Given the description of an element on the screen output the (x, y) to click on. 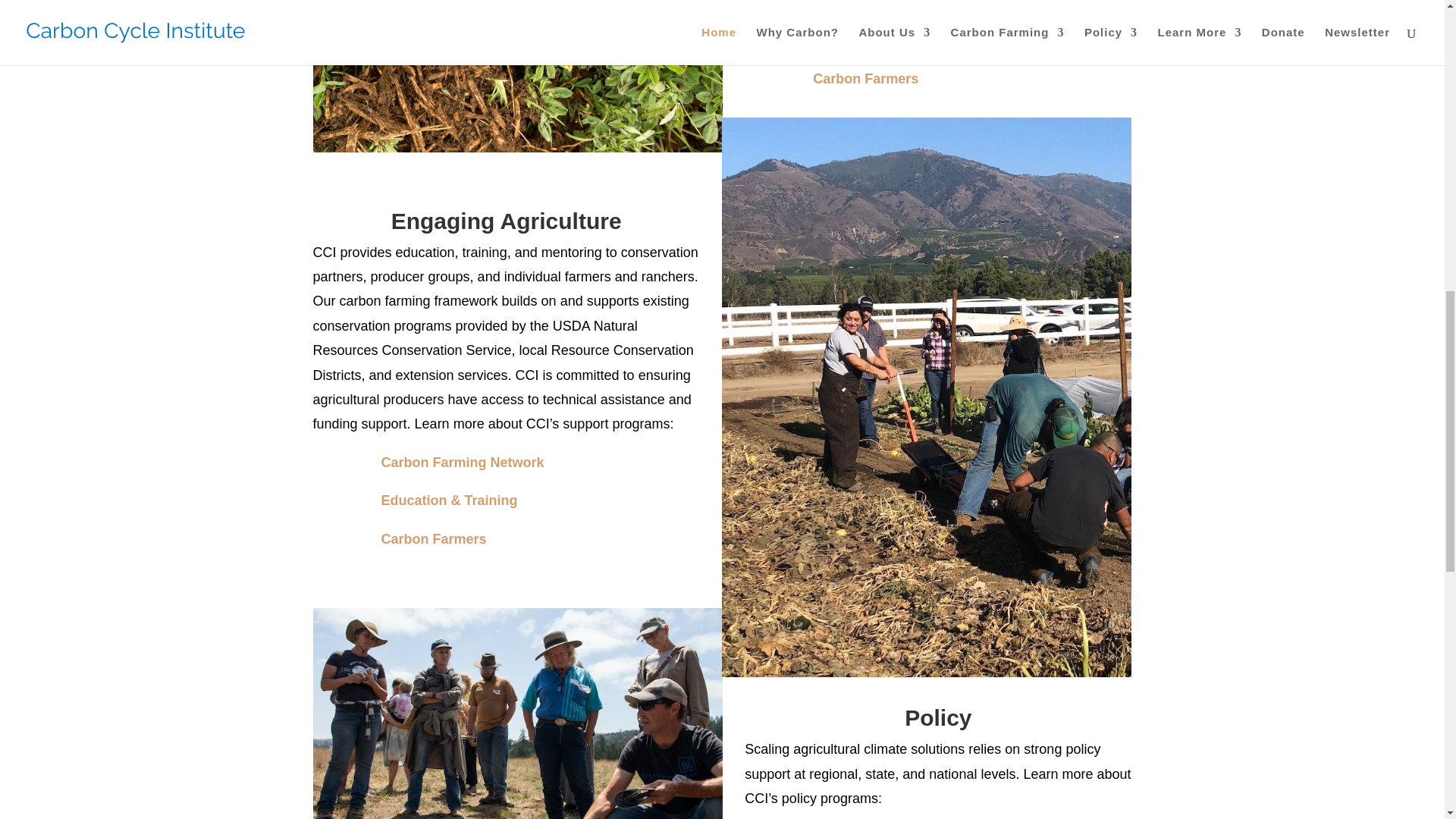
paigegreenFibershedEstil01192012-165 (517, 76)
